Given the description of an element on the screen output the (x, y) to click on. 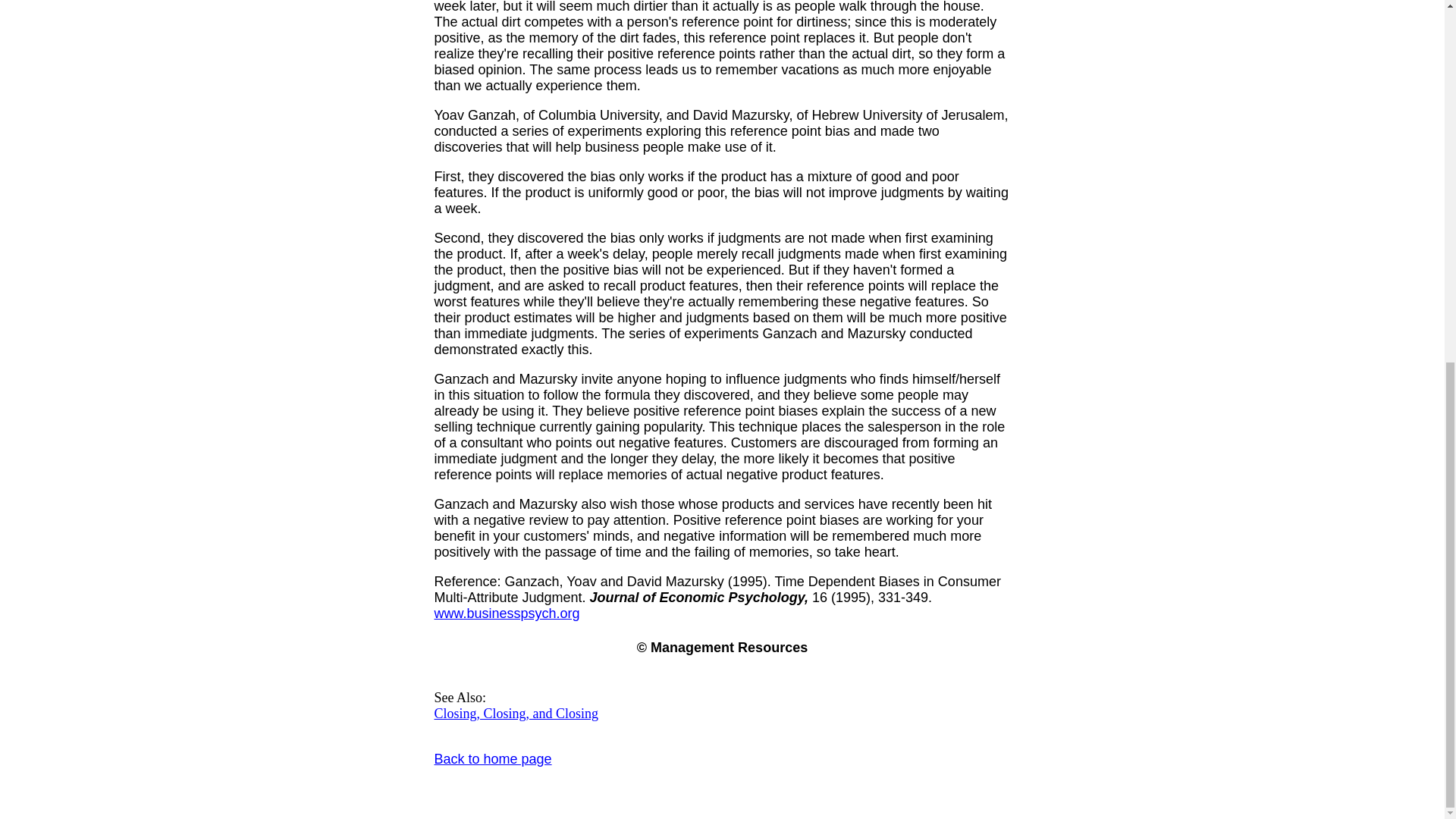
www.businesspsych.org (506, 613)
Back to home page (492, 758)
Closing, Closing, and Closing (515, 713)
